Given the description of an element on the screen output the (x, y) to click on. 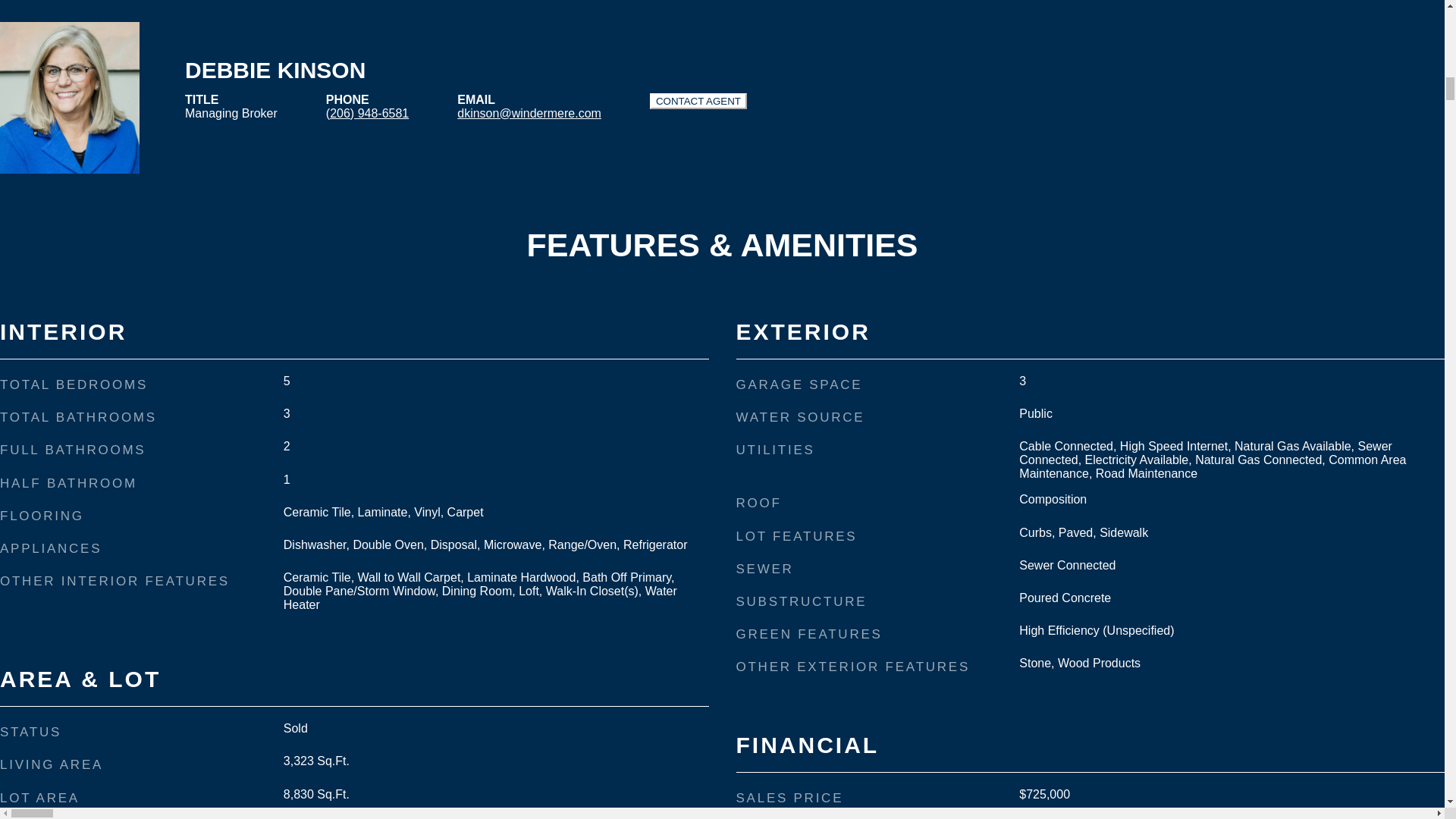
CONTACT AGENT (697, 100)
